Given the description of an element on the screen output the (x, y) to click on. 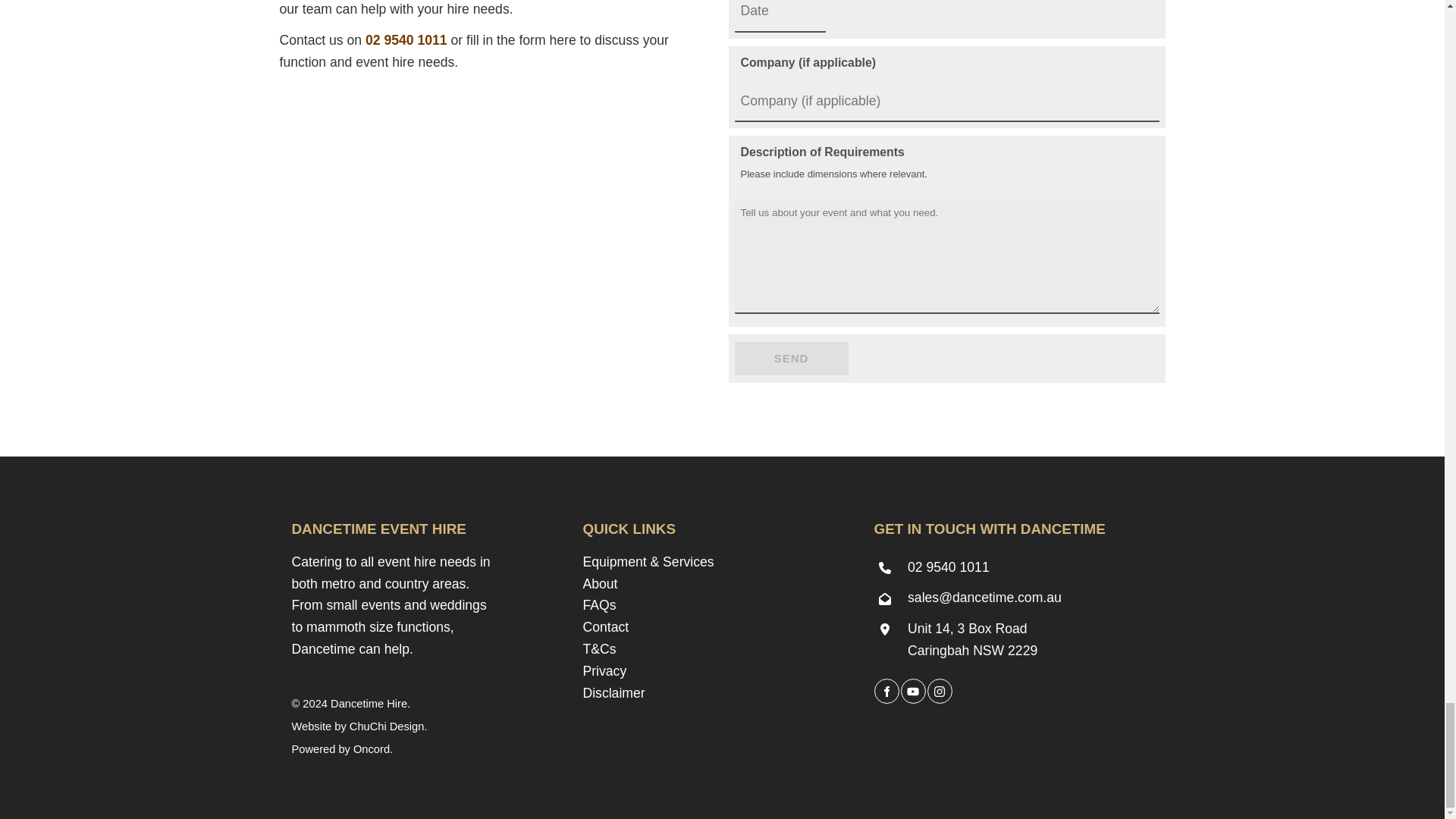
Facebook (885, 690)
Youtube (913, 690)
Instagram (939, 690)
